Given the description of an element on the screen output the (x, y) to click on. 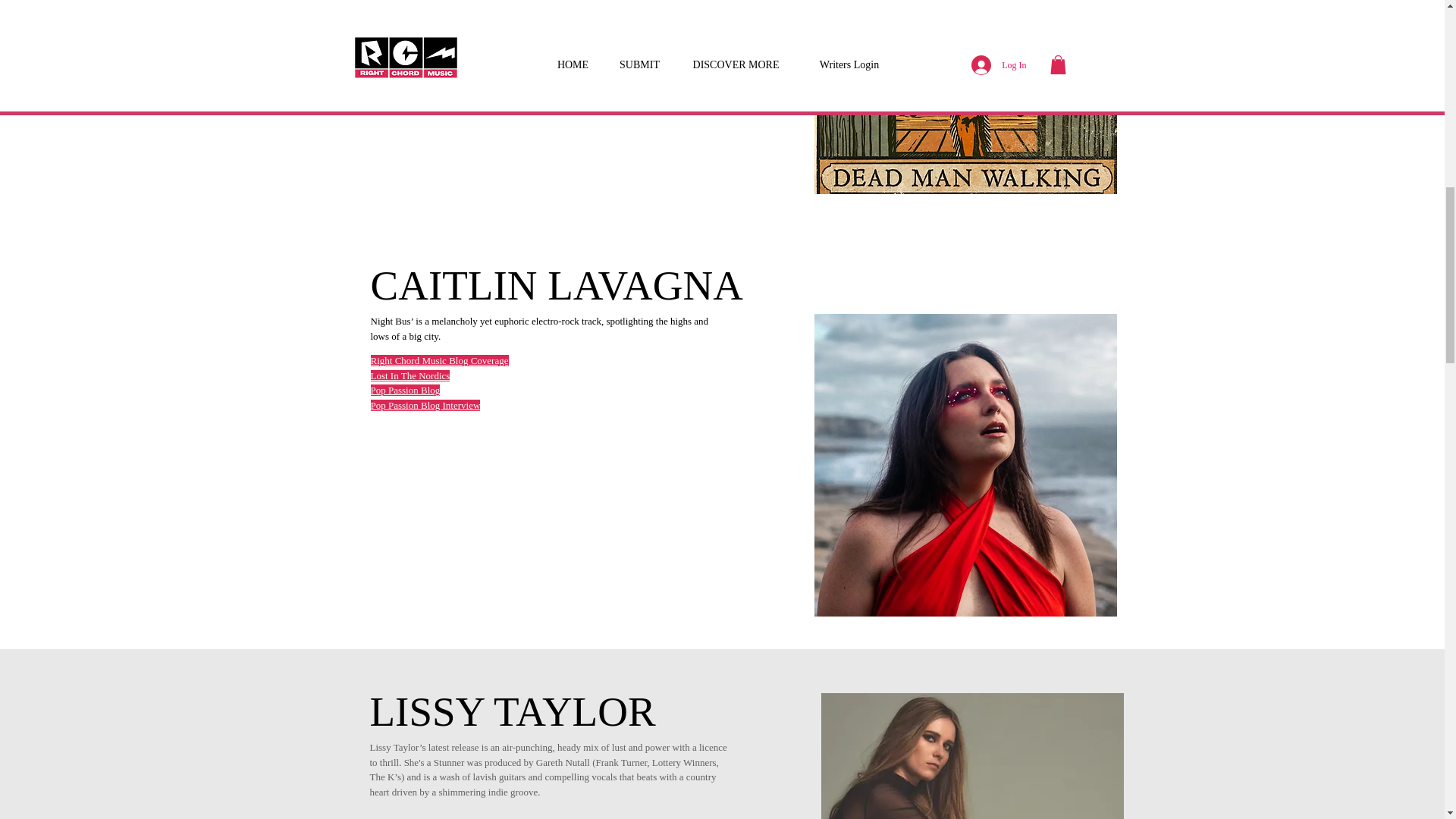
Pop Passion Blog (404, 389)
Lost In The Nordics (409, 375)
Right Chord Music Blog Coverage (438, 360)
Pop Passion Blog Interview (424, 405)
